Given the description of an element on the screen output the (x, y) to click on. 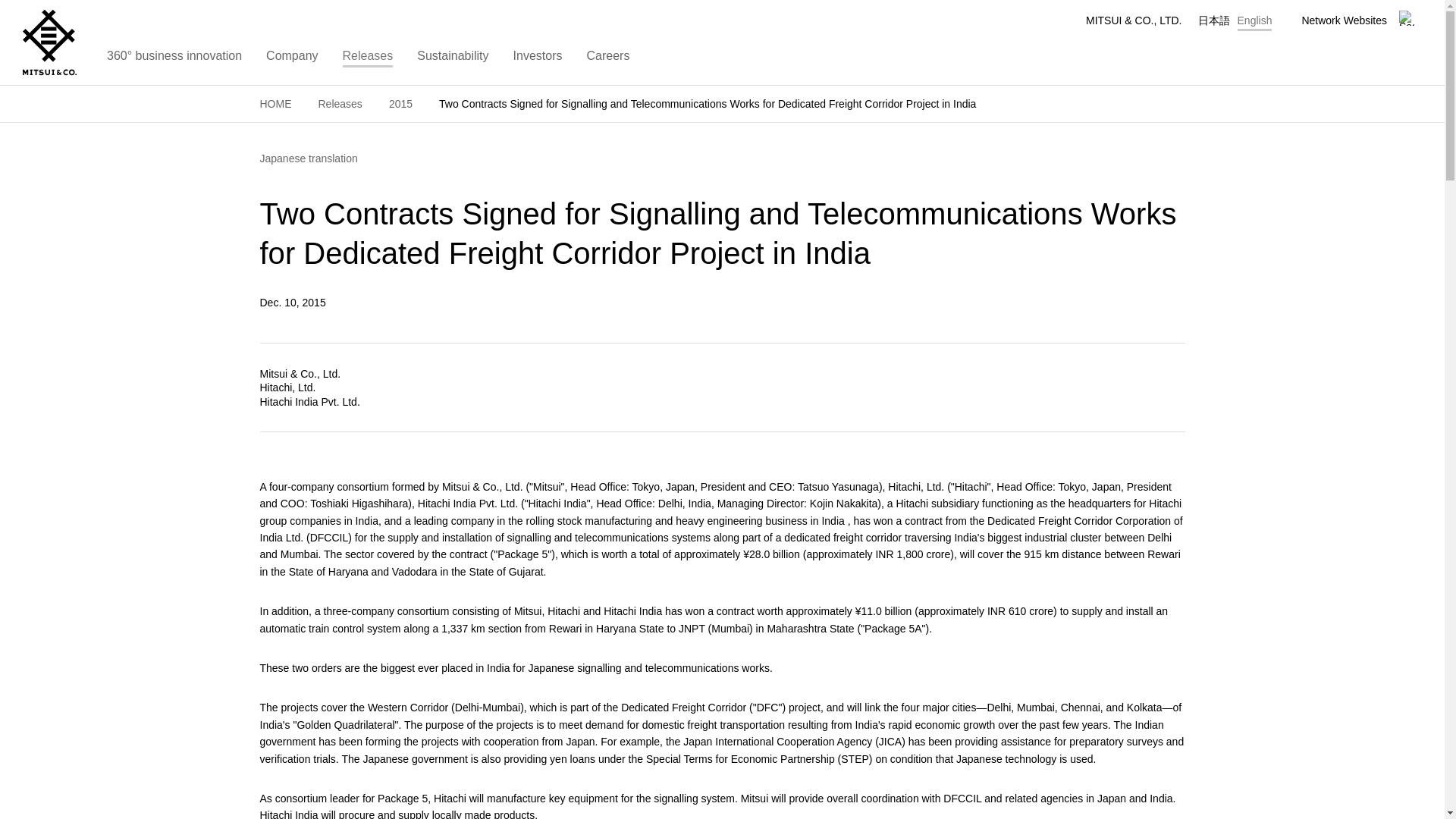
Company (291, 60)
Releases (368, 60)
Sustainability (452, 60)
